Given the description of an element on the screen output the (x, y) to click on. 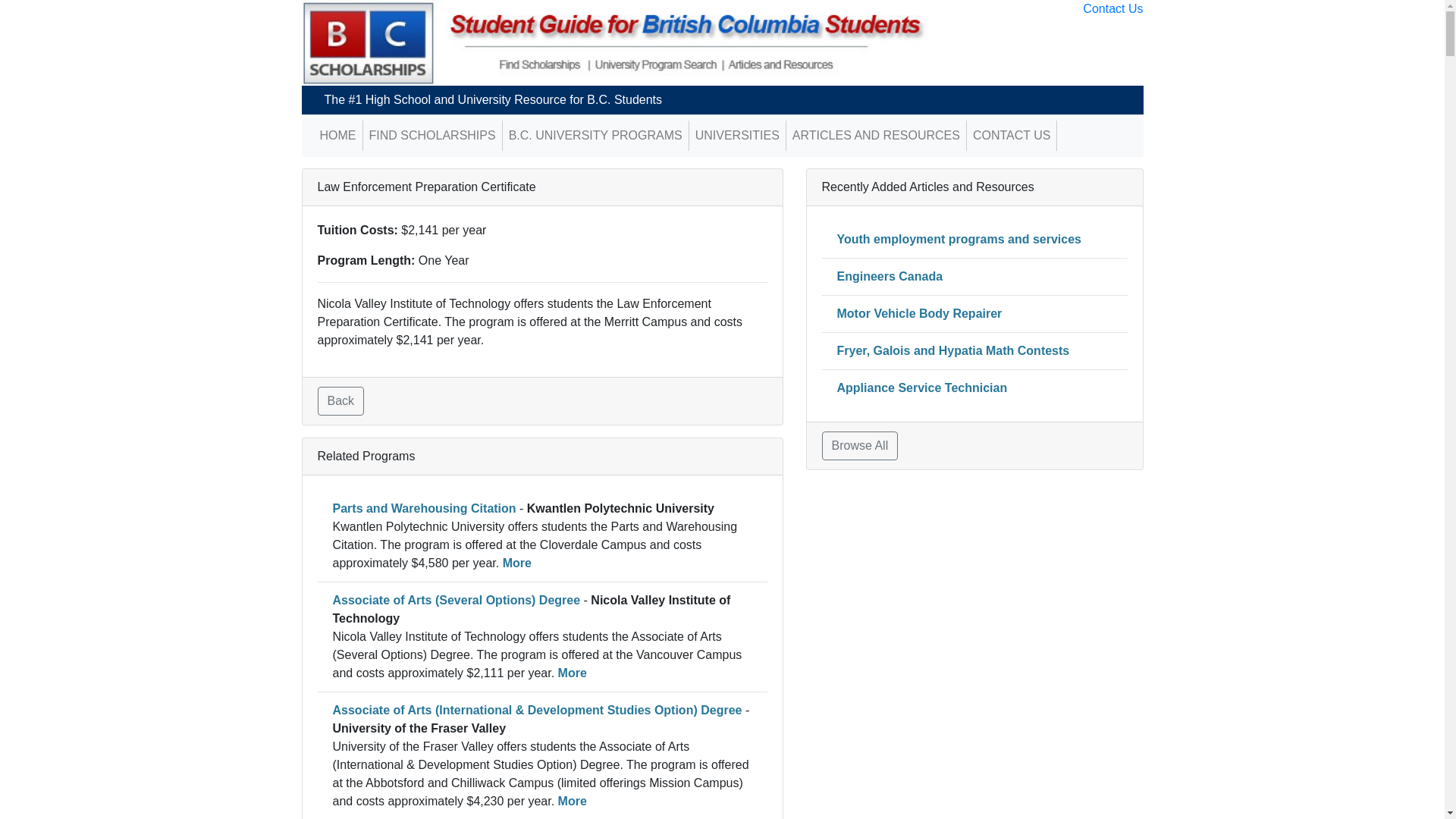
B.C. UNIVERSITY PROGRAMS Element type: text (595, 135)
Youth employment programs and services Element type: text (959, 238)
ARTICLES AND RESOURCES Element type: text (876, 135)
More Element type: text (572, 800)
Engineers Canada Element type: text (890, 275)
HOME Element type: text (337, 135)
CONTACT US Element type: text (1011, 135)
Fryer, Galois and Hypatia Math Contests Element type: text (953, 350)
Associate of Arts (Several Options) Degree Element type: text (456, 599)
Browse All Element type: text (860, 445)
Motor Vehicle Body Repairer Element type: text (919, 313)
Contact Us Element type: text (1112, 8)
UNIVERSITIES Element type: text (737, 135)
More Element type: text (572, 672)
FIND SCHOLARSHIPS Element type: text (431, 135)
Parts and Warehousing Citation Element type: text (423, 508)
Back Element type: text (340, 400)
Appliance Service Technician Element type: text (922, 387)
More Element type: text (516, 562)
